Given the description of an element on the screen output the (x, y) to click on. 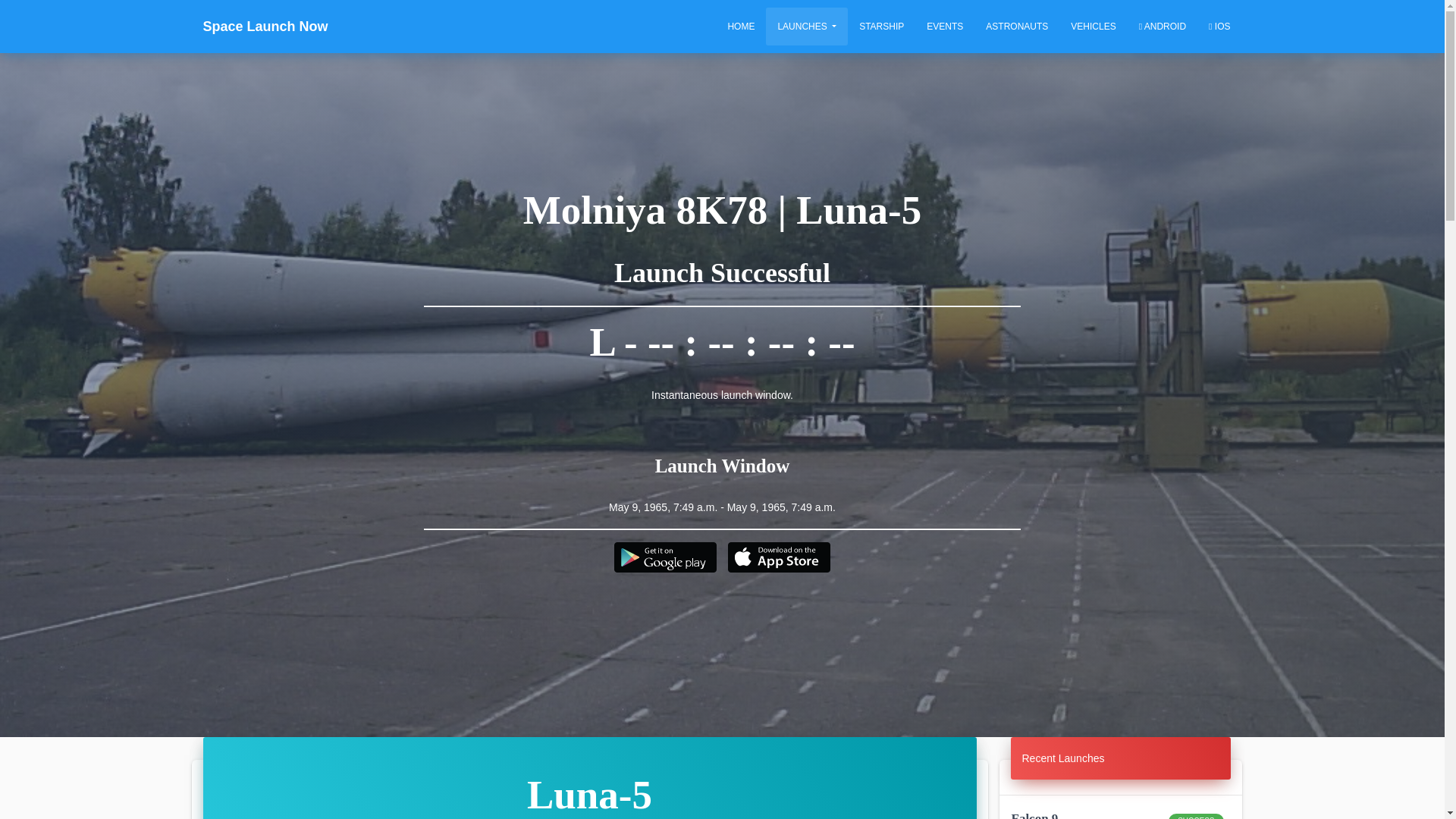
STARSHIP (881, 26)
Space Launch Now (266, 26)
STARSHIP (1119, 813)
EVENTS (881, 26)
ASTRONAUTS (944, 26)
Recent Launches (1016, 26)
ASTRONAUTS (1063, 758)
LAUNCHES (1016, 26)
ANDROID (806, 26)
